Given the description of an element on the screen output the (x, y) to click on. 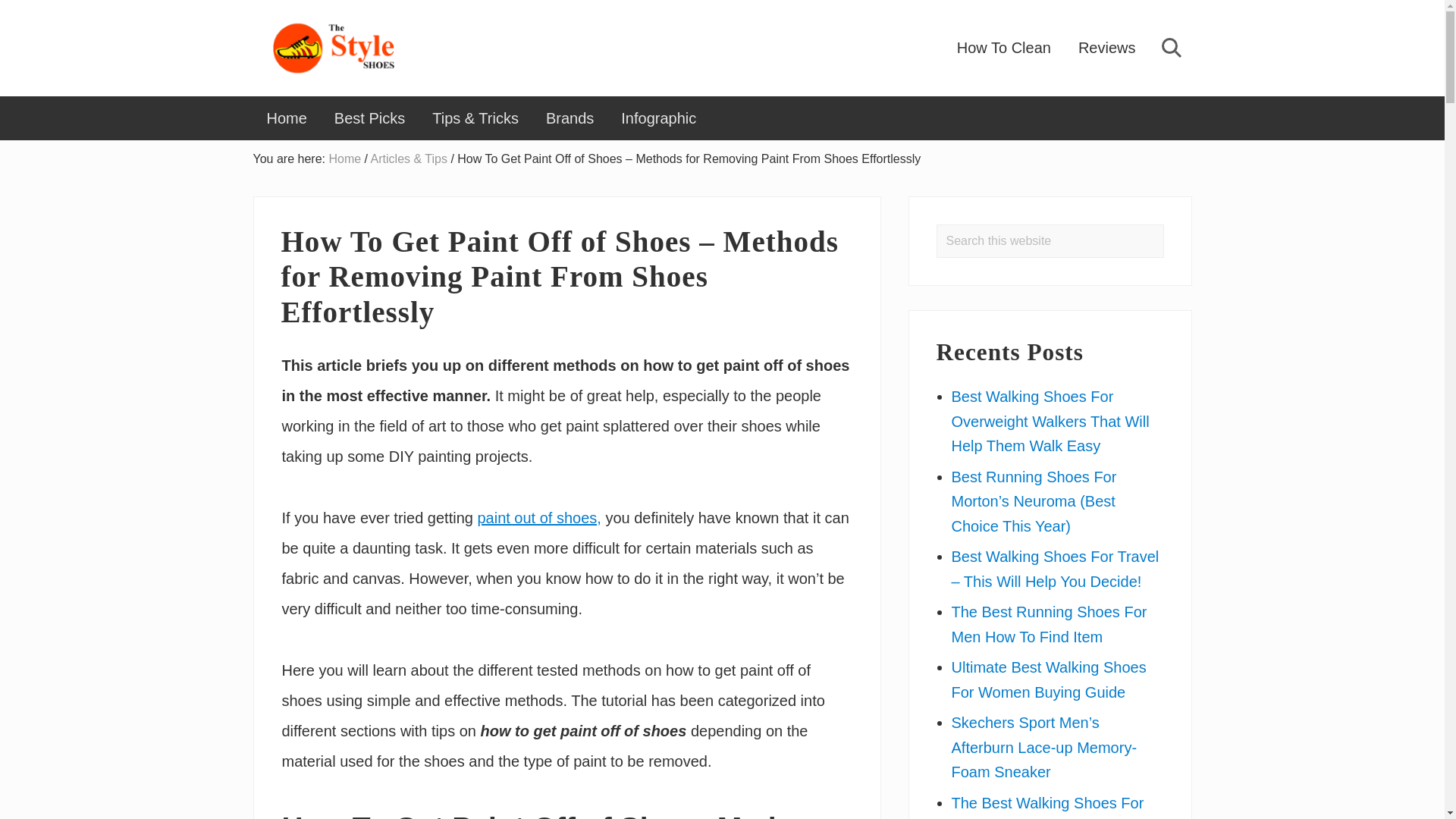
Reviews (1106, 47)
Brands (569, 118)
Best Picks (369, 118)
Home (345, 158)
How To Clean (1003, 47)
Home (286, 118)
Infographic (658, 118)
paint out of shoes, (538, 517)
